Given the description of an element on the screen output the (x, y) to click on. 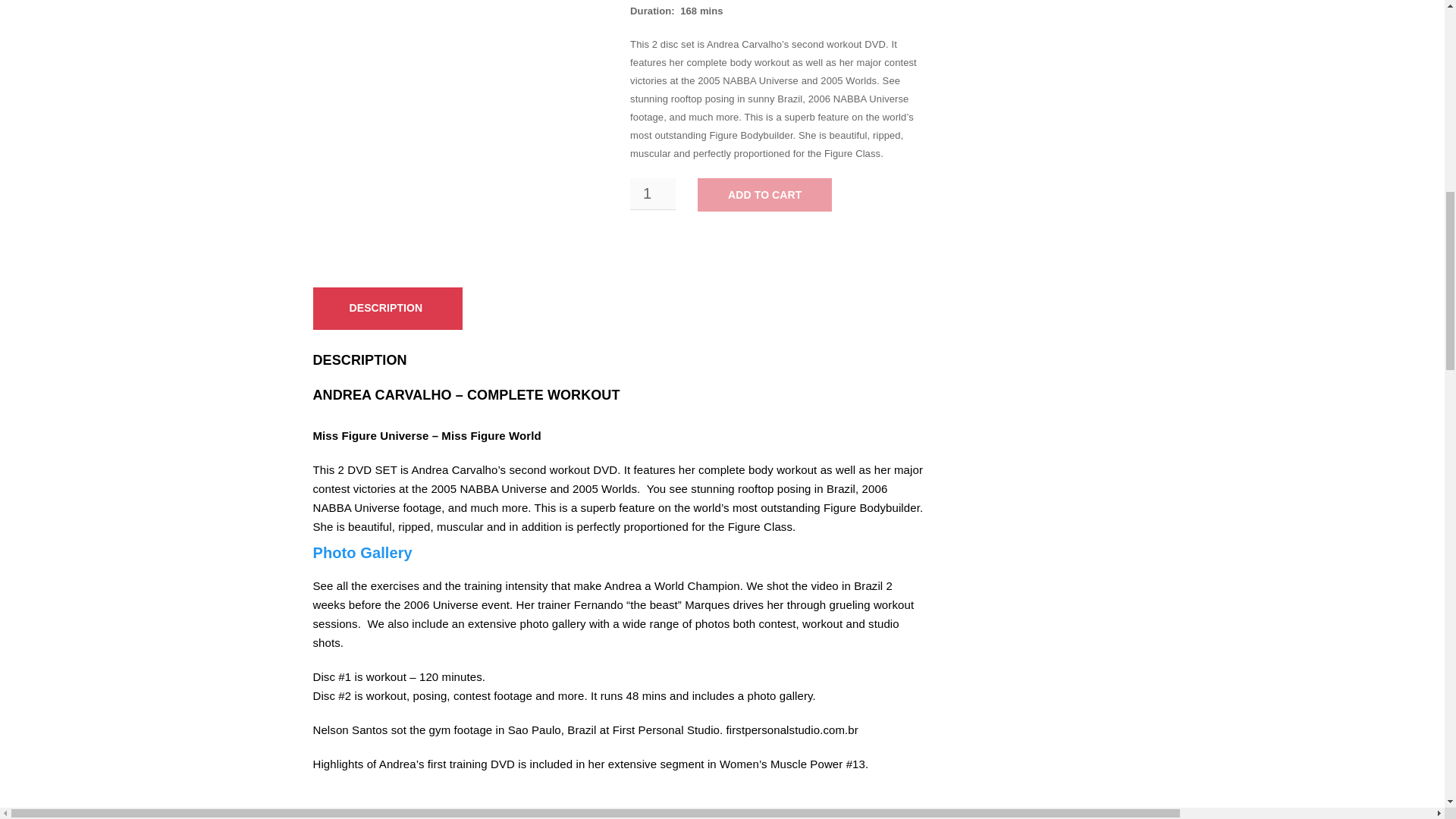
1 (652, 193)
